Given the description of an element on the screen output the (x, y) to click on. 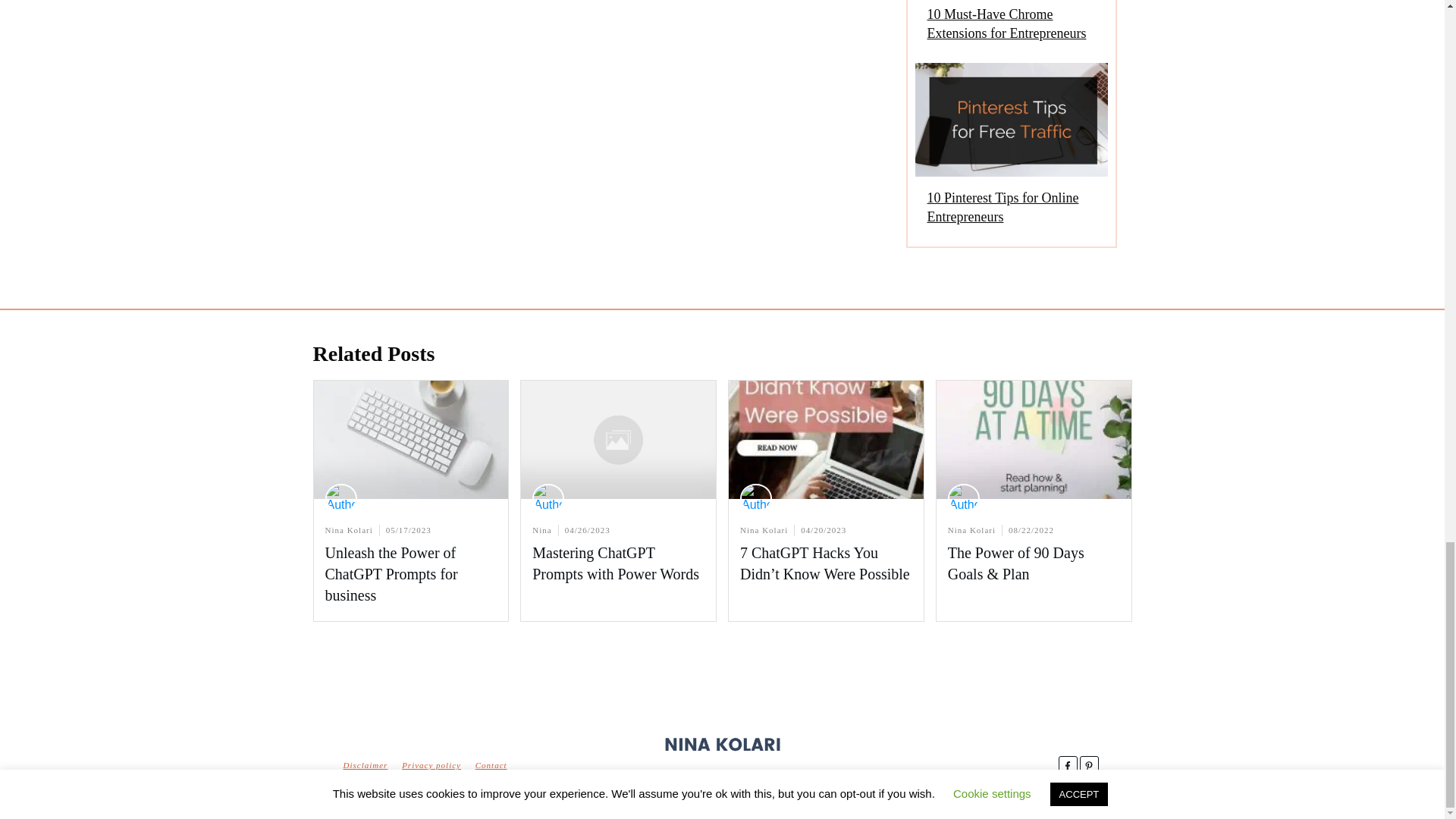
10 Must-Have Chrome Extensions for Entrepreneurs (1006, 23)
10 Pinterest Tips for Online Entrepreneurs (1002, 207)
10 Must-Have Chrome Extensions for Entrepreneurs (1010, 27)
Unleash the Power of ChatGPT Prompts for business (390, 573)
10 Pinterest Tips for Online Entrepreneurs (1010, 151)
Mastering ChatGPT Prompts with Power Words (615, 563)
10 Pinterest Tips for Online Entrepreneurs (1002, 207)
10 Must-Have Chrome Extensions for Entrepreneurs (1006, 23)
Unleash the Power of ChatGPT Prompts for business (390, 573)
Mastering ChatGPT Prompts with Power Words (615, 563)
